Given the description of an element on the screen output the (x, y) to click on. 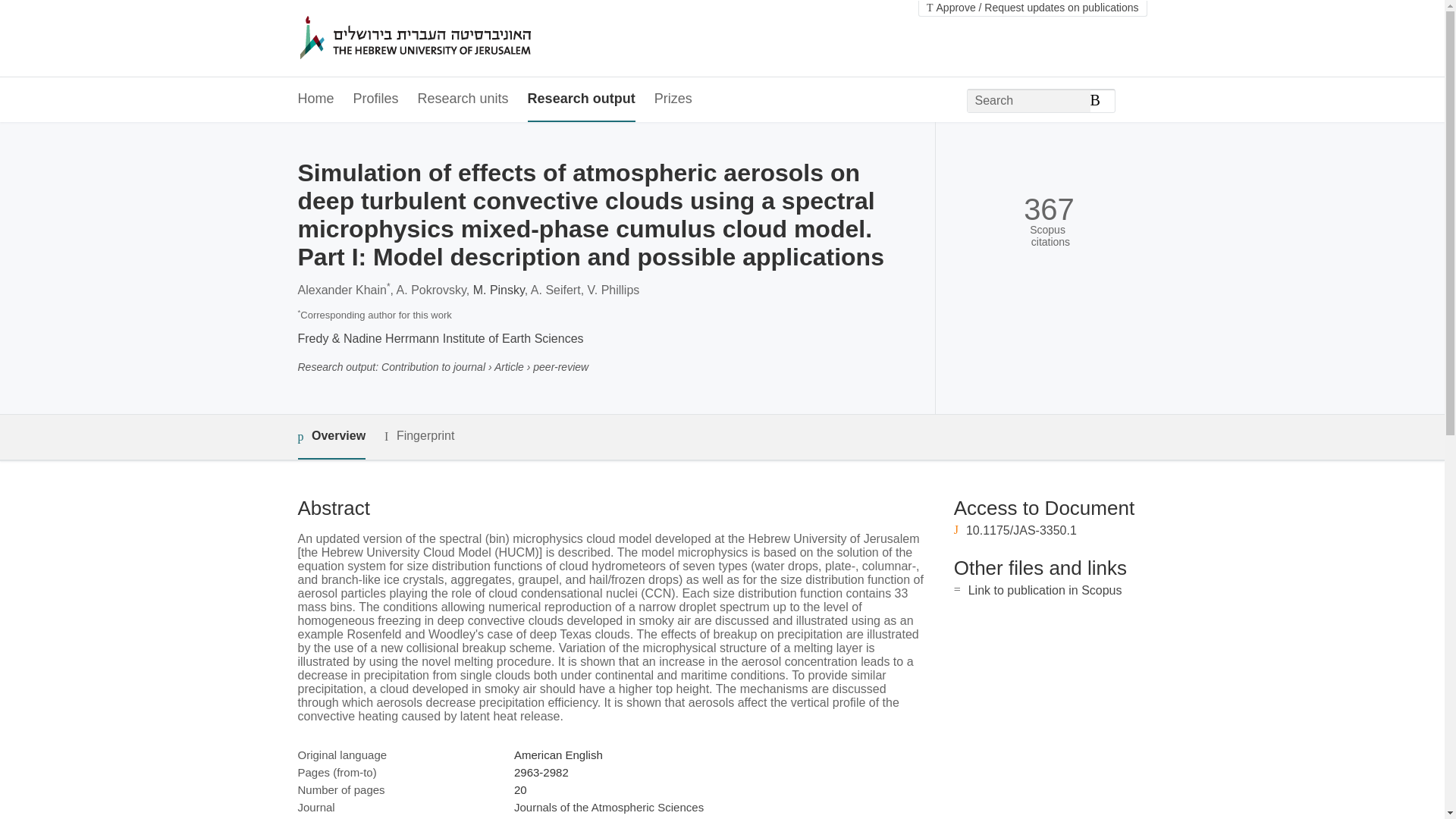
Journals of the Atmospheric Sciences (608, 807)
Overview (331, 436)
M. Pinsky (498, 289)
The Hebrew University of Jerusalem Home (447, 38)
Profiles (375, 99)
Link to publication in Scopus (1045, 590)
Research output (580, 99)
Fingerprint (419, 435)
Research units (462, 99)
